Given the description of an element on the screen output the (x, y) to click on. 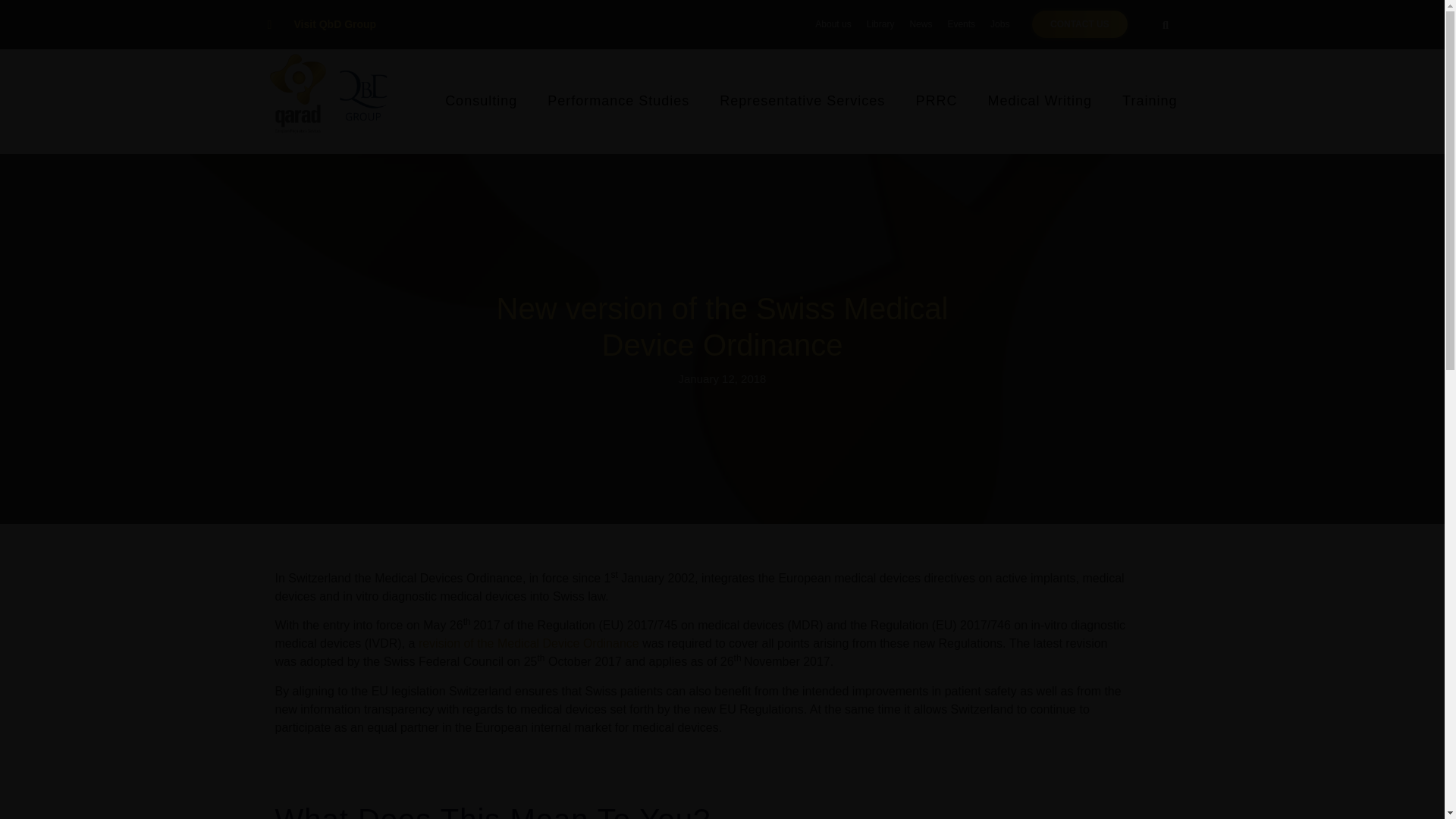
Events (960, 24)
Representative Services (801, 100)
CONTACT US (1079, 23)
Library (880, 24)
Training (1149, 100)
About us (833, 24)
Jobs (999, 24)
Medical Writing (1039, 100)
Consulting (480, 100)
Visit QbD Group (320, 24)
